Given the description of an element on the screen output the (x, y) to click on. 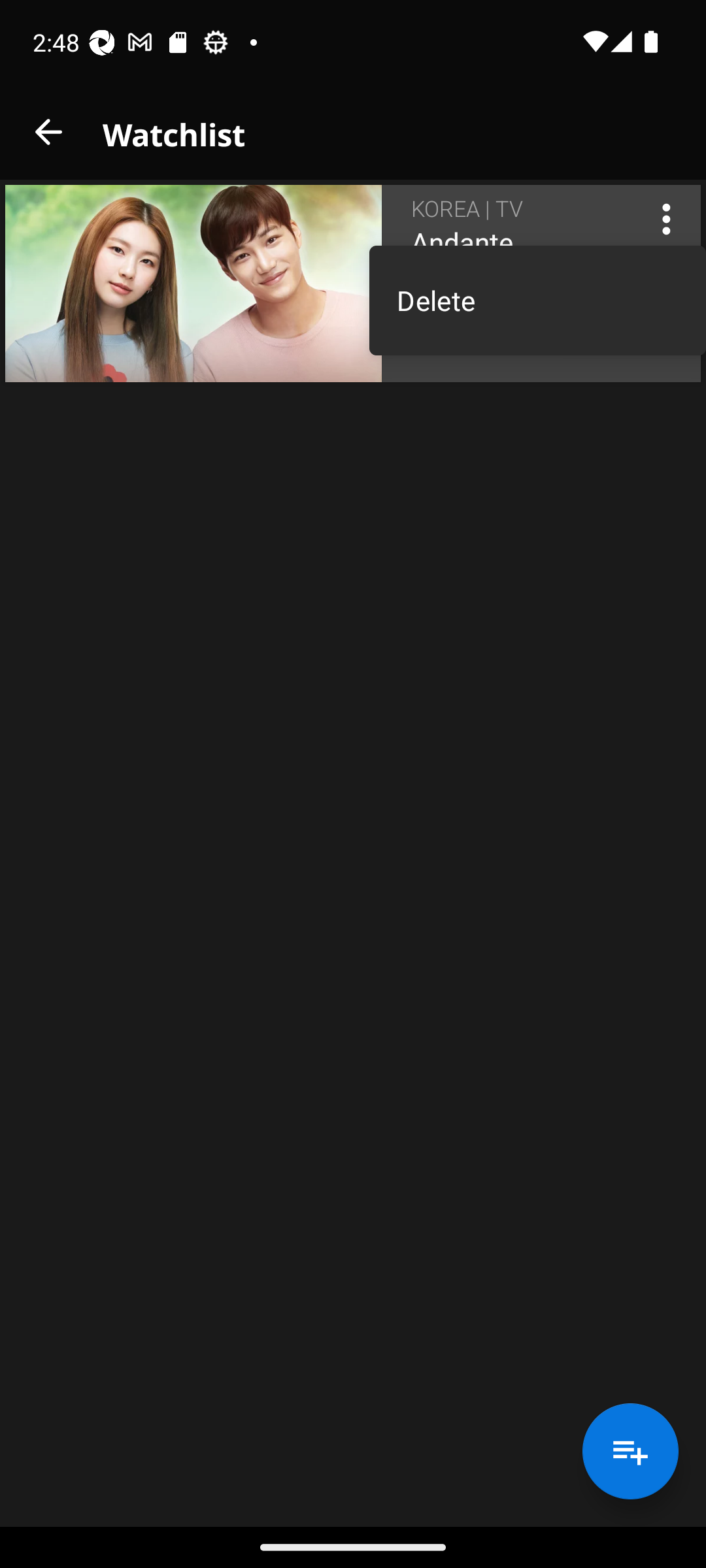
Delete (537, 299)
